Given the description of an element on the screen output the (x, y) to click on. 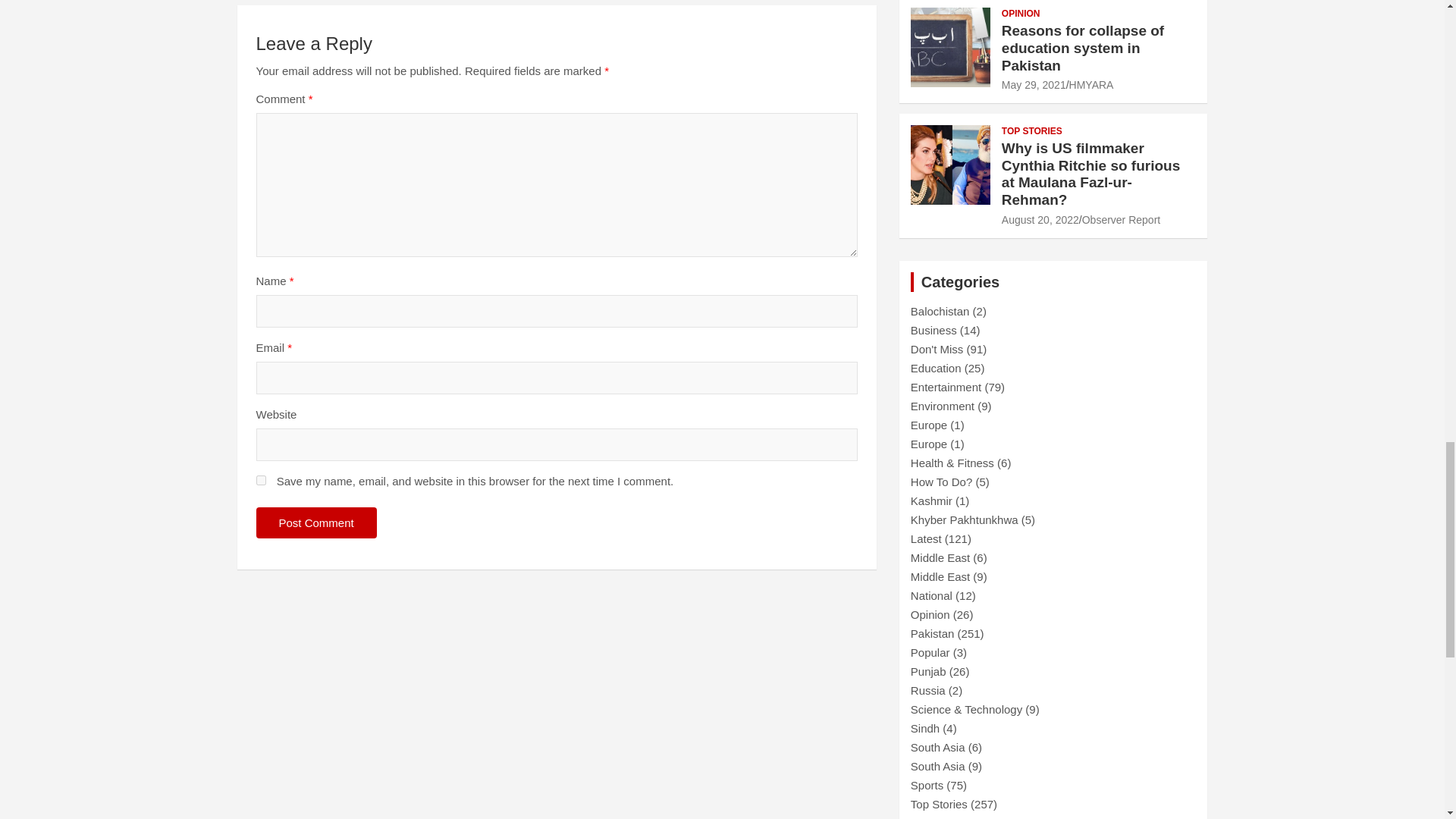
Post Comment (316, 522)
yes (261, 480)
Reasons for collapse of education system in Pakistan (1033, 84)
